Given the description of an element on the screen output the (x, y) to click on. 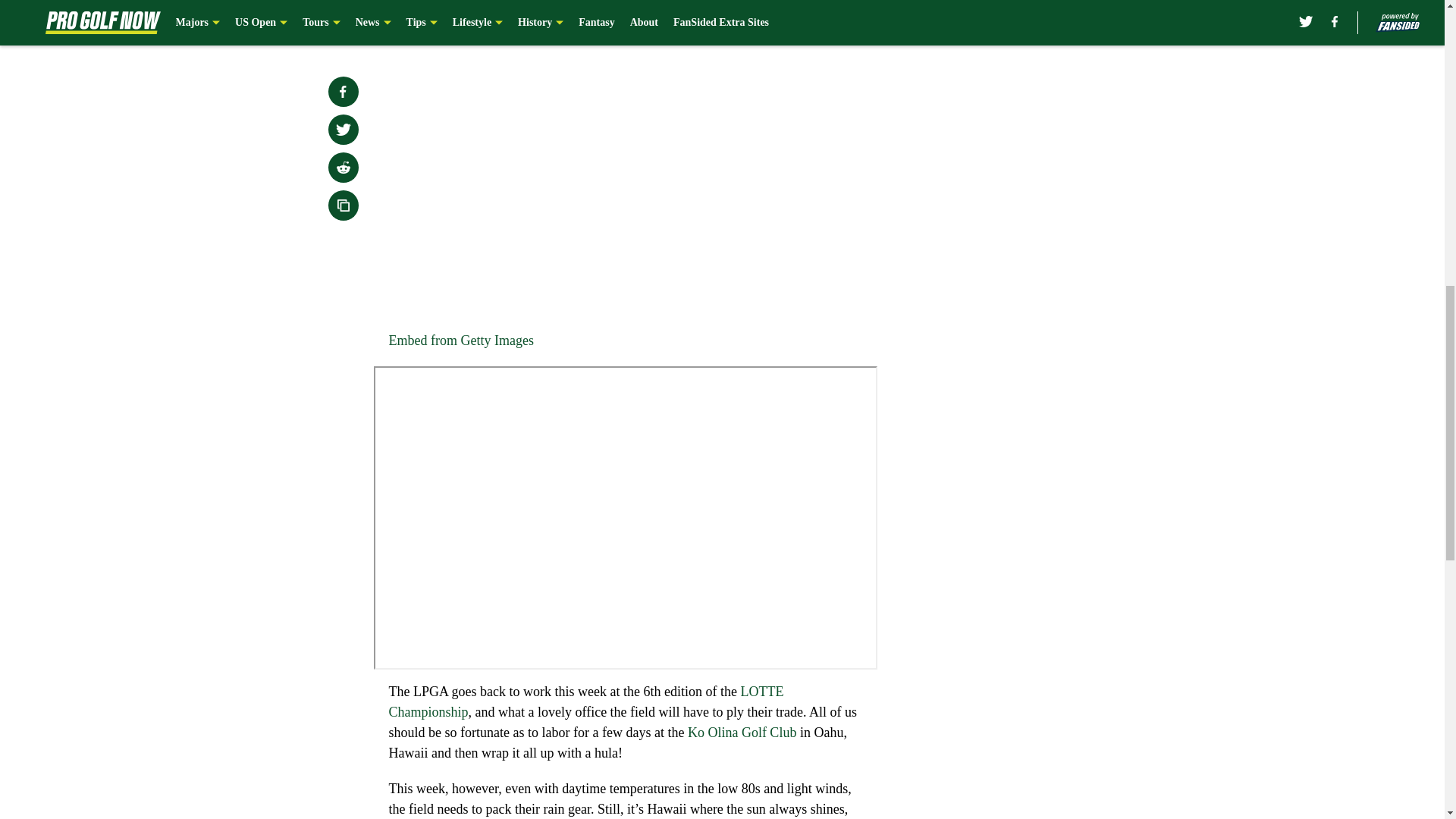
Prev (433, 20)
